Given the description of an element on the screen output the (x, y) to click on. 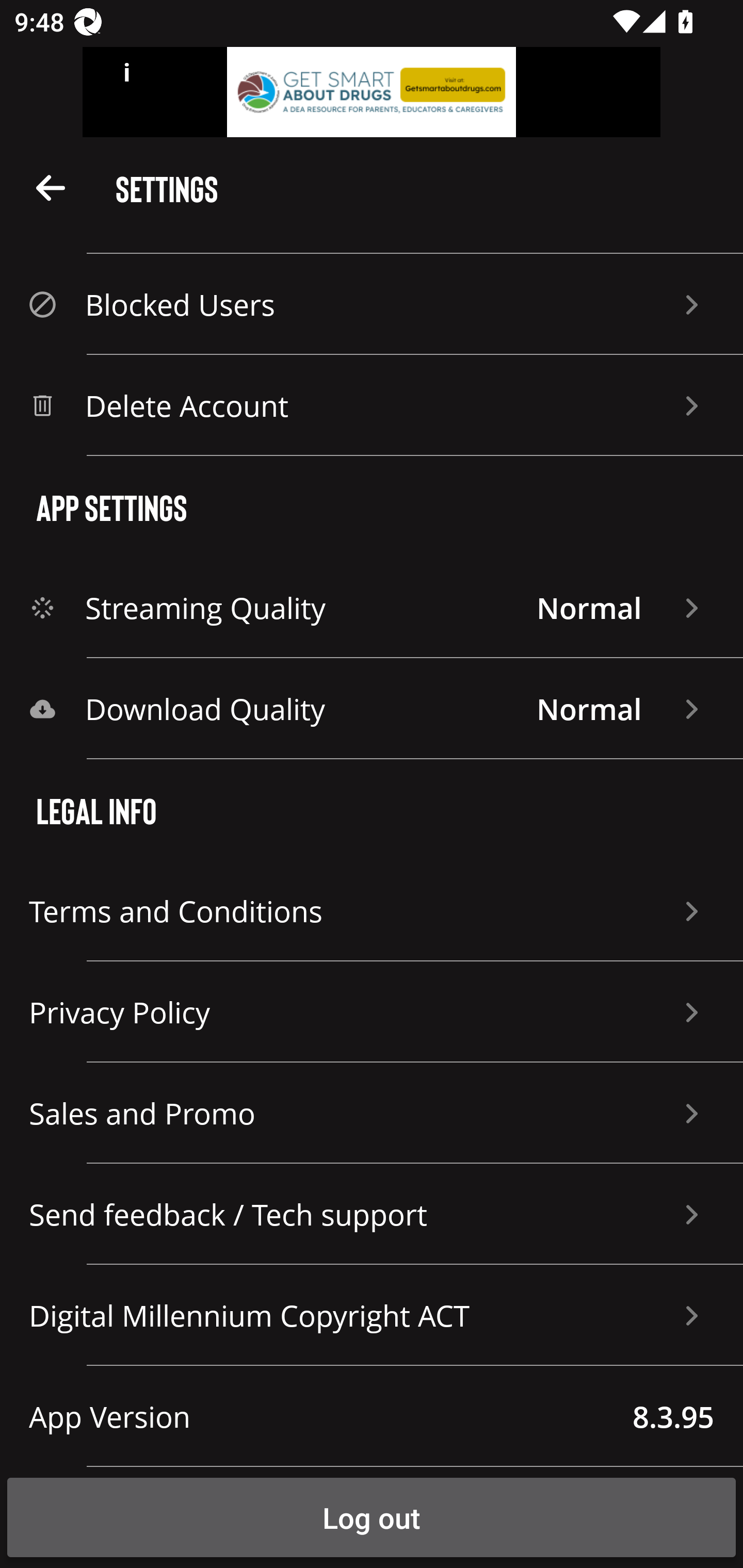
Description (50, 187)
Blocked Users (371, 304)
Delete Account (371, 405)
Streaming Quality Normal (371, 607)
Download Quality Normal (371, 708)
Terms and Conditions (371, 910)
Privacy Policy (371, 1012)
Sales and Promo (371, 1113)
Send feedback / Tech support (371, 1214)
Digital Millennium Copyright ACT (371, 1315)
Log out (371, 1517)
